Given the description of an element on the screen output the (x, y) to click on. 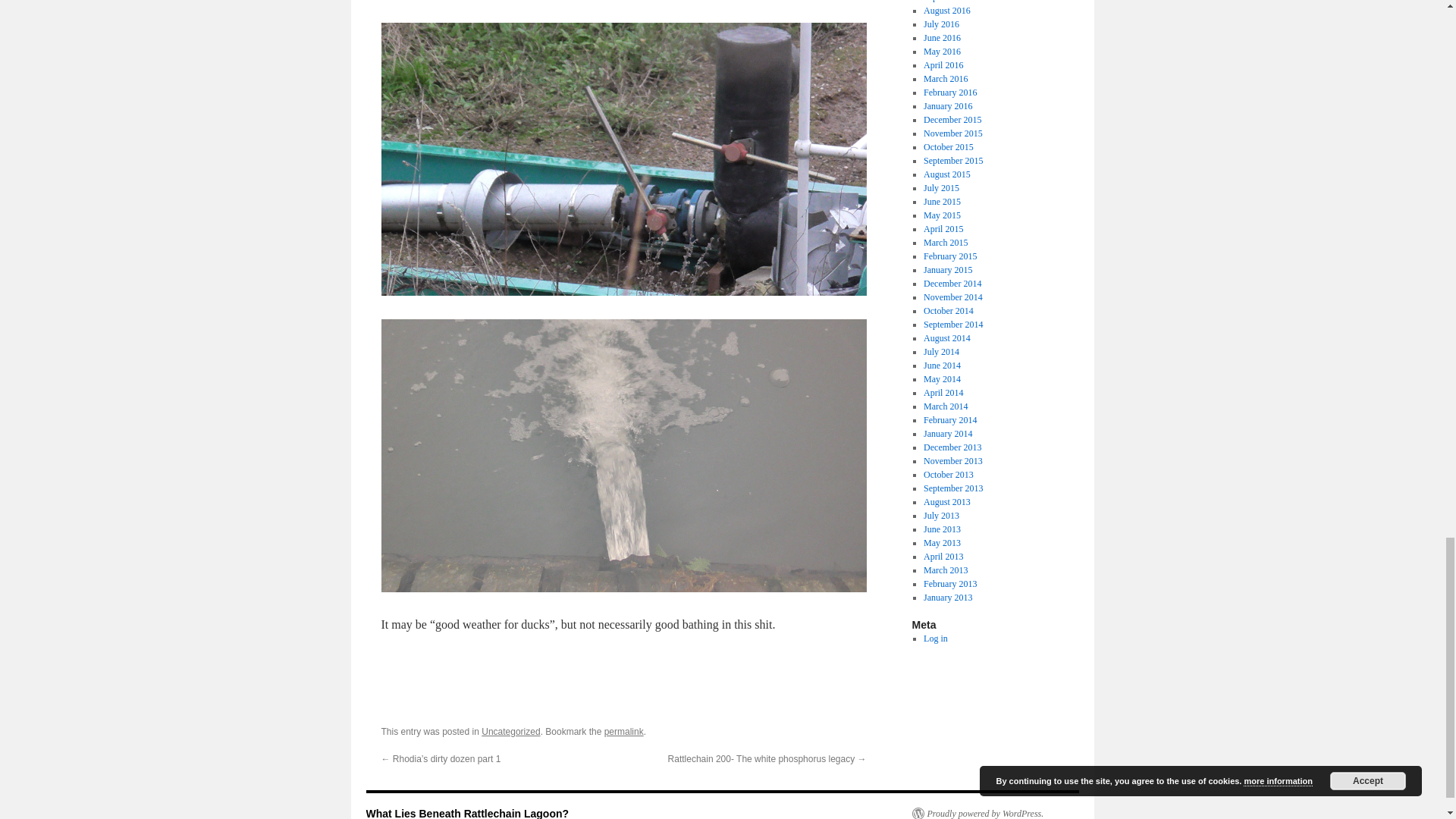
Permalink to Pump down the volume (623, 731)
